Given the description of an element on the screen output the (x, y) to click on. 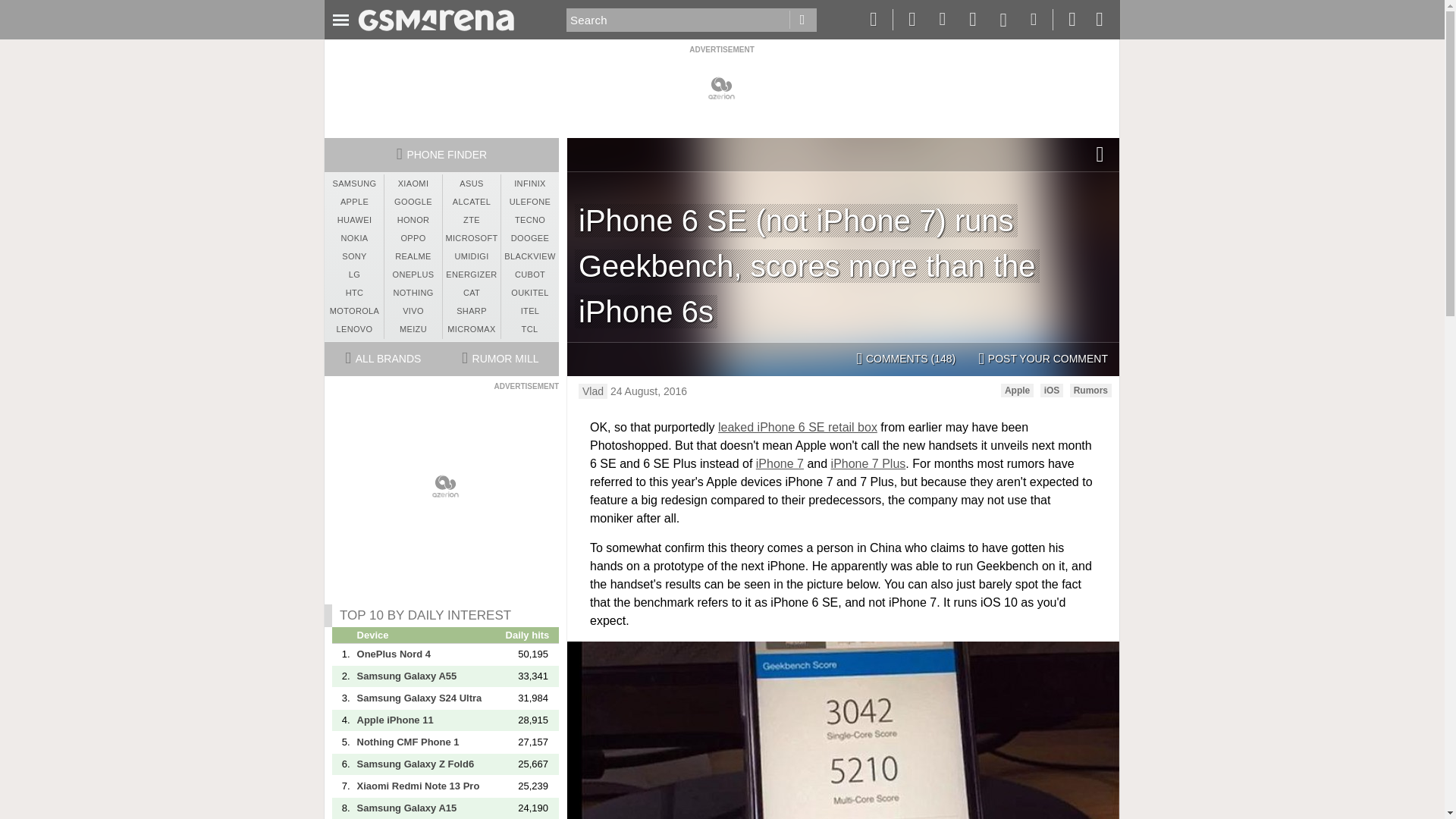
POST YOUR COMMENT (1042, 359)
Apple (1017, 390)
leaked iPhone 6 SE retail box (797, 427)
iPhone 7 (779, 463)
Go (802, 19)
Rumors (1091, 390)
Vlad (592, 391)
Go (802, 19)
iOS (1052, 390)
iPhone 7 Plus (868, 463)
